Given the description of an element on the screen output the (x, y) to click on. 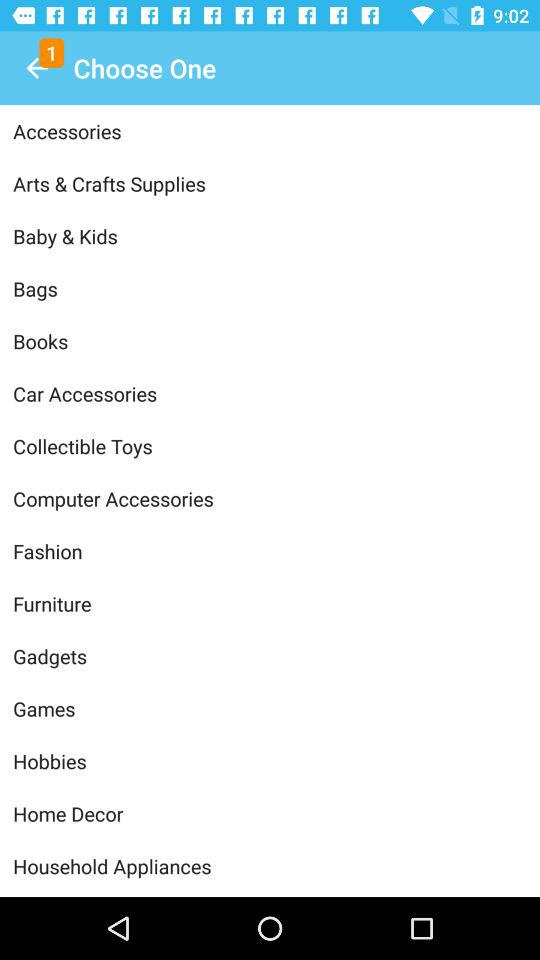
scroll to furniture item (269, 603)
